Given the description of an element on the screen output the (x, y) to click on. 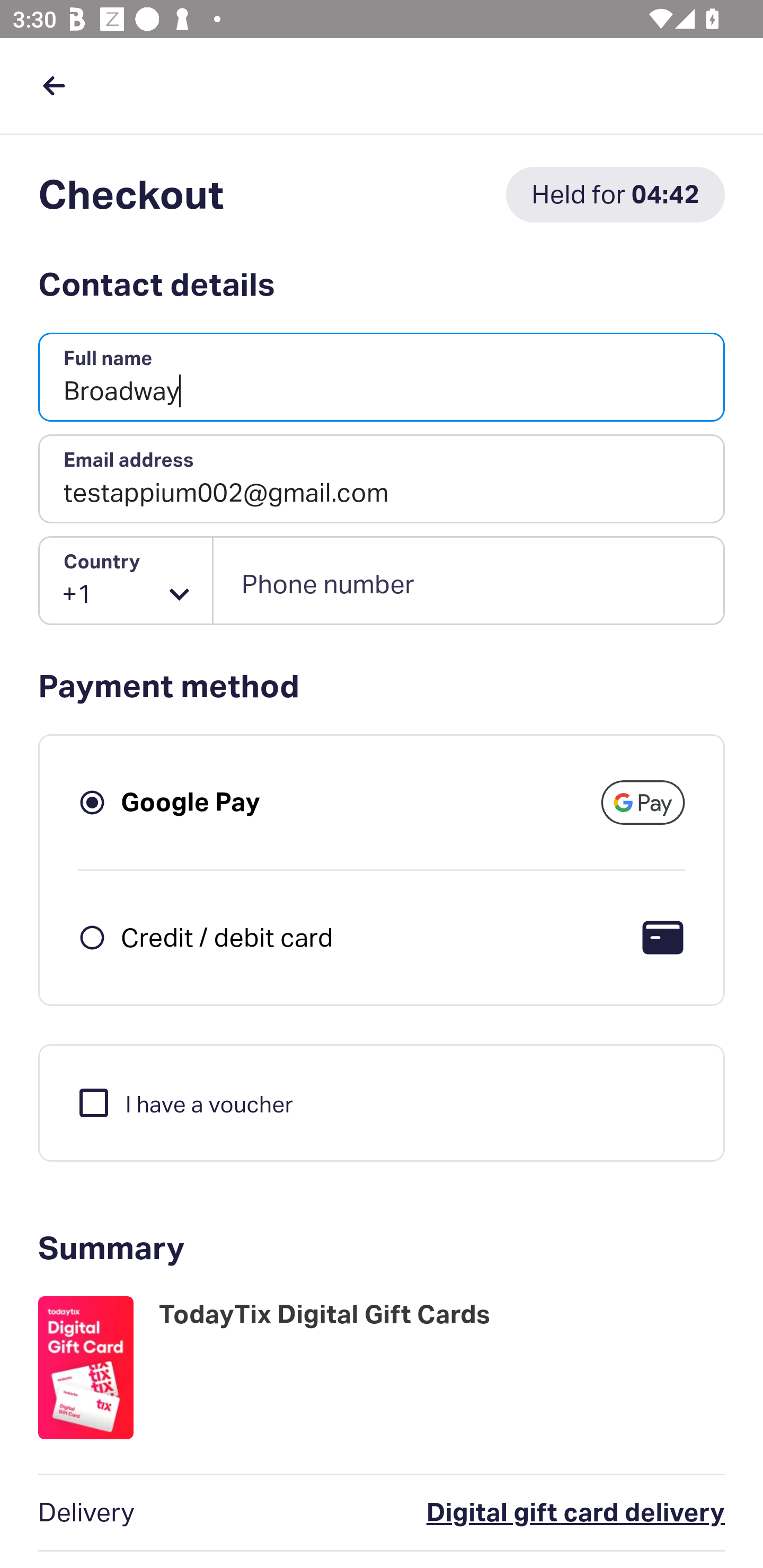
back button (53, 85)
Broadway (381, 377)
testappium002@gmail.com (381, 478)
  +1 (126, 580)
Google Pay (190, 802)
Credit / debit card (227, 936)
I have a voucher (183, 1101)
Digital gift card delivery (495, 1512)
